Given the description of an element on the screen output the (x, y) to click on. 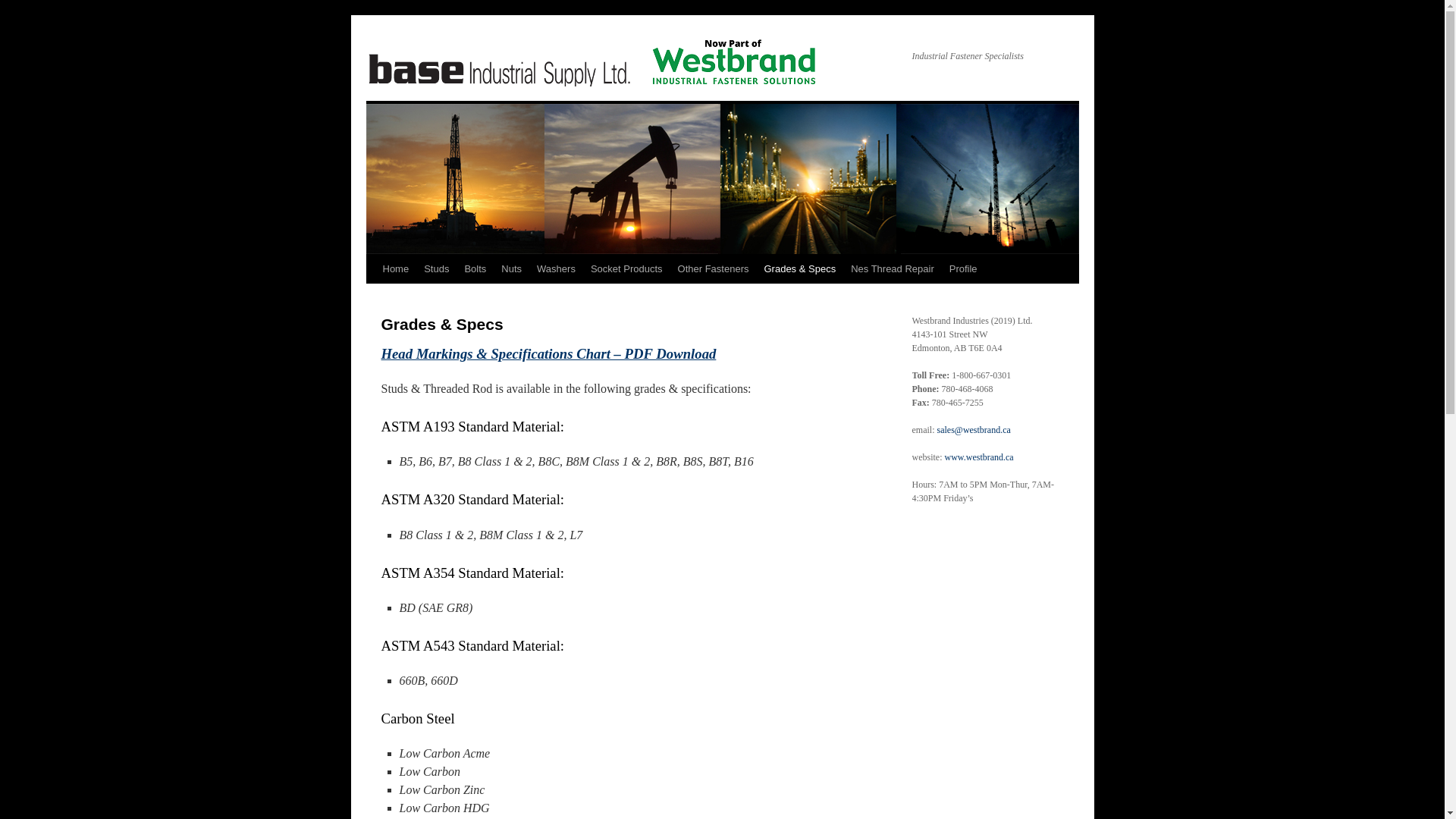
Nes Thread Repair Element type: text (892, 268)
Skip to content Element type: text (372, 297)
Grades & Specs Element type: text (799, 268)
Nuts Element type: text (511, 268)
Profile Element type: text (963, 268)
Washers Element type: text (556, 268)
Studs Element type: text (436, 268)
Socket Products Element type: text (626, 268)
Bolts Element type: text (474, 268)
www.westbrand.ca Element type: text (978, 456)
sales@westbrand.ca Element type: text (973, 429)
Other Fasteners Element type: text (713, 268)
Home Element type: text (395, 268)
